Given the description of an element on the screen output the (x, y) to click on. 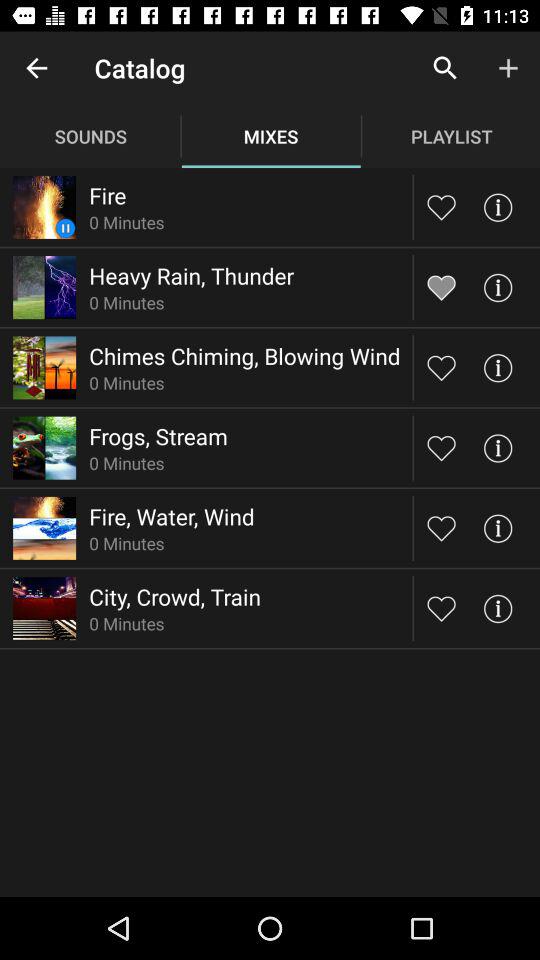
sound information (498, 608)
